Given the description of an element on the screen output the (x, y) to click on. 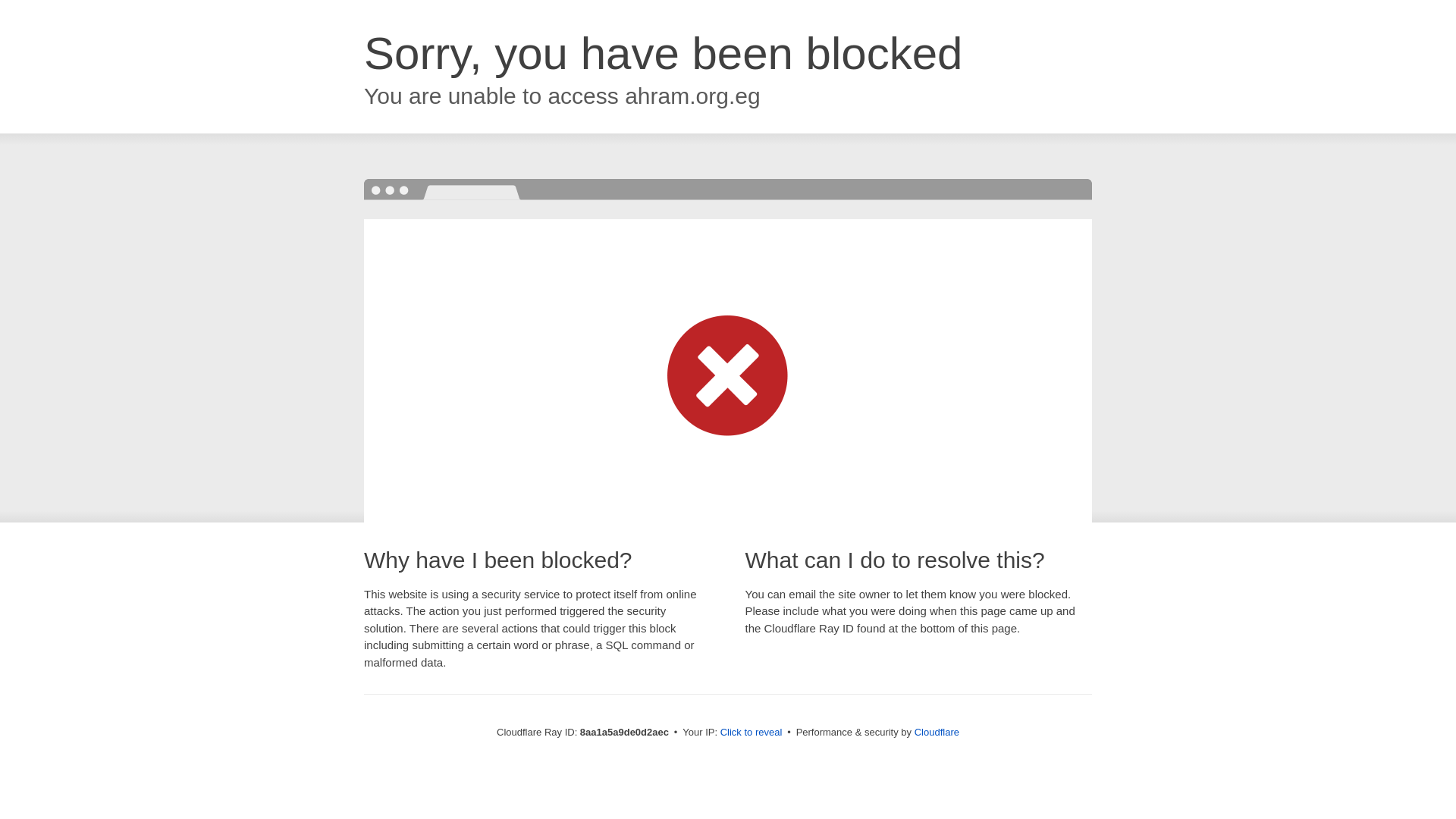
Click to reveal (751, 732)
Cloudflare (936, 731)
